Given the description of an element on the screen output the (x, y) to click on. 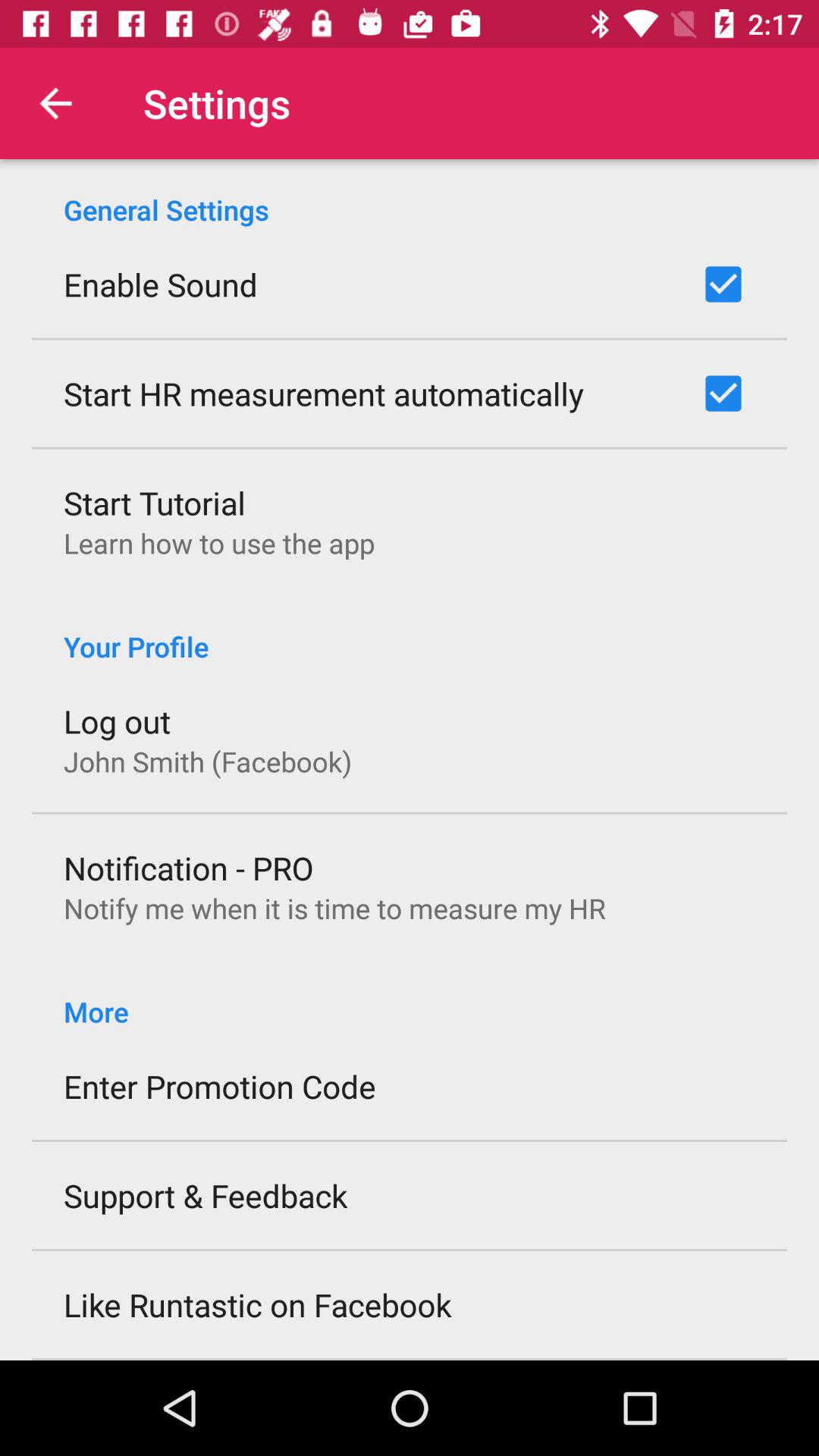
scroll to the general settings (409, 193)
